Given the description of an element on the screen output the (x, y) to click on. 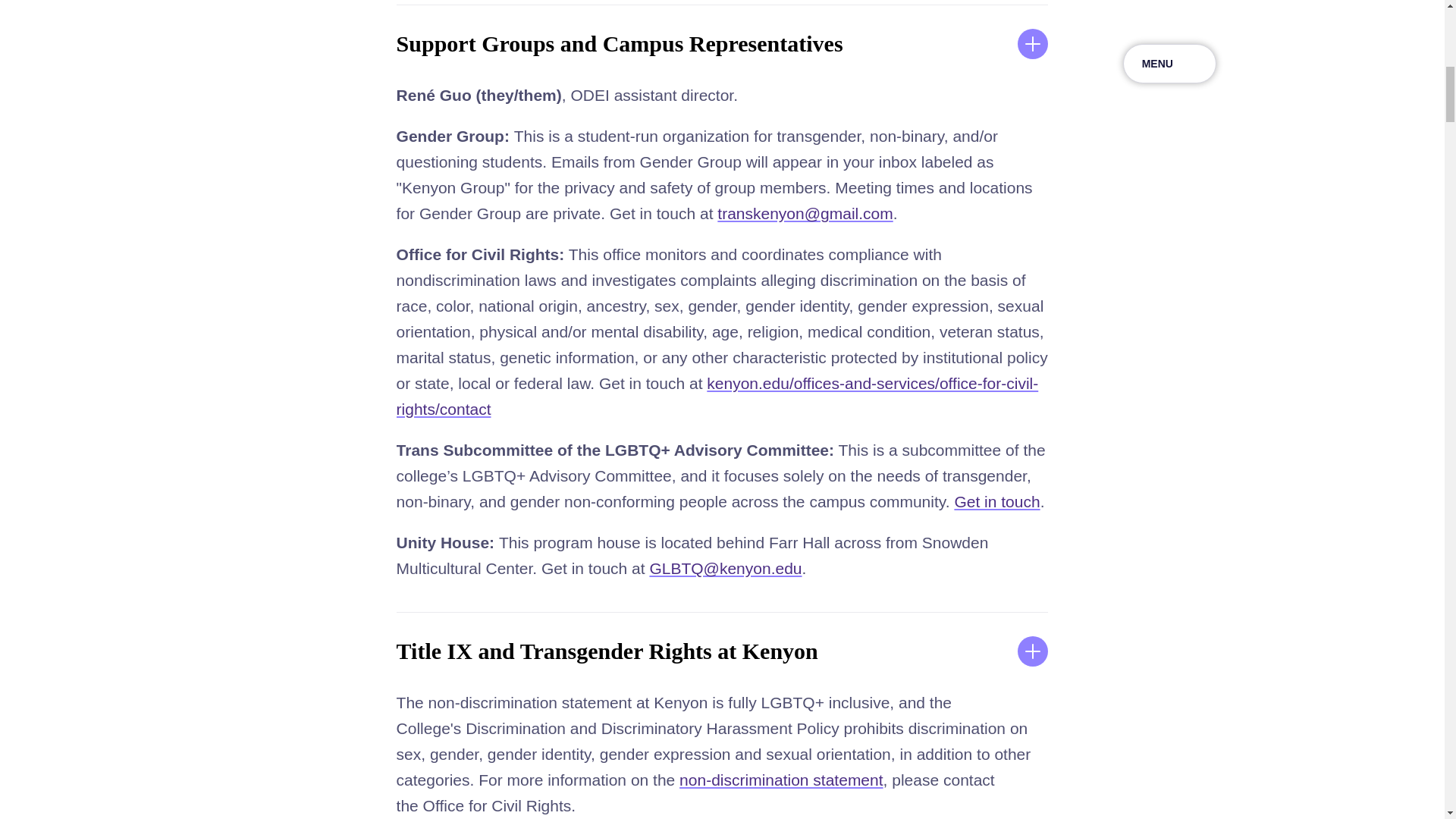
Title IX and Transgender Rights at Kenyon (722, 651)
Get in touch (996, 501)
Support Groups and Campus Representatives (722, 43)
non-discrimination statement (780, 779)
